Given the description of an element on the screen output the (x, y) to click on. 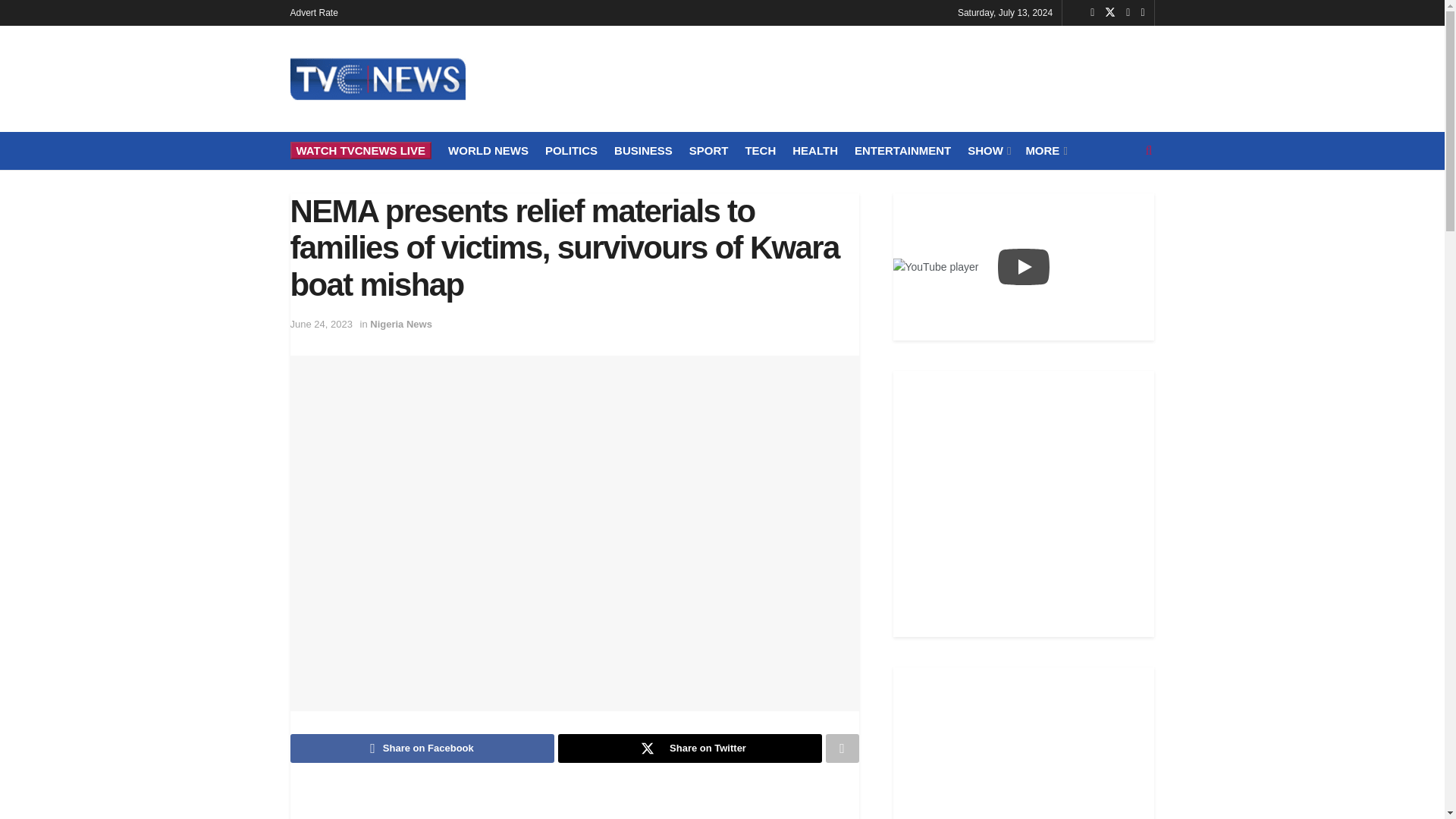
WATCH TVCNEWS LIVE (359, 149)
POLITICS (570, 150)
WORLD NEWS (488, 150)
MORE (1044, 150)
SHOW (988, 150)
Advert Rate (313, 12)
HEALTH (815, 150)
SPORT (708, 150)
ENTERTAINMENT (902, 150)
BUSINESS (643, 150)
TECH (760, 150)
WATCH TVCNEWS LIVE (359, 150)
